Given the description of an element on the screen output the (x, y) to click on. 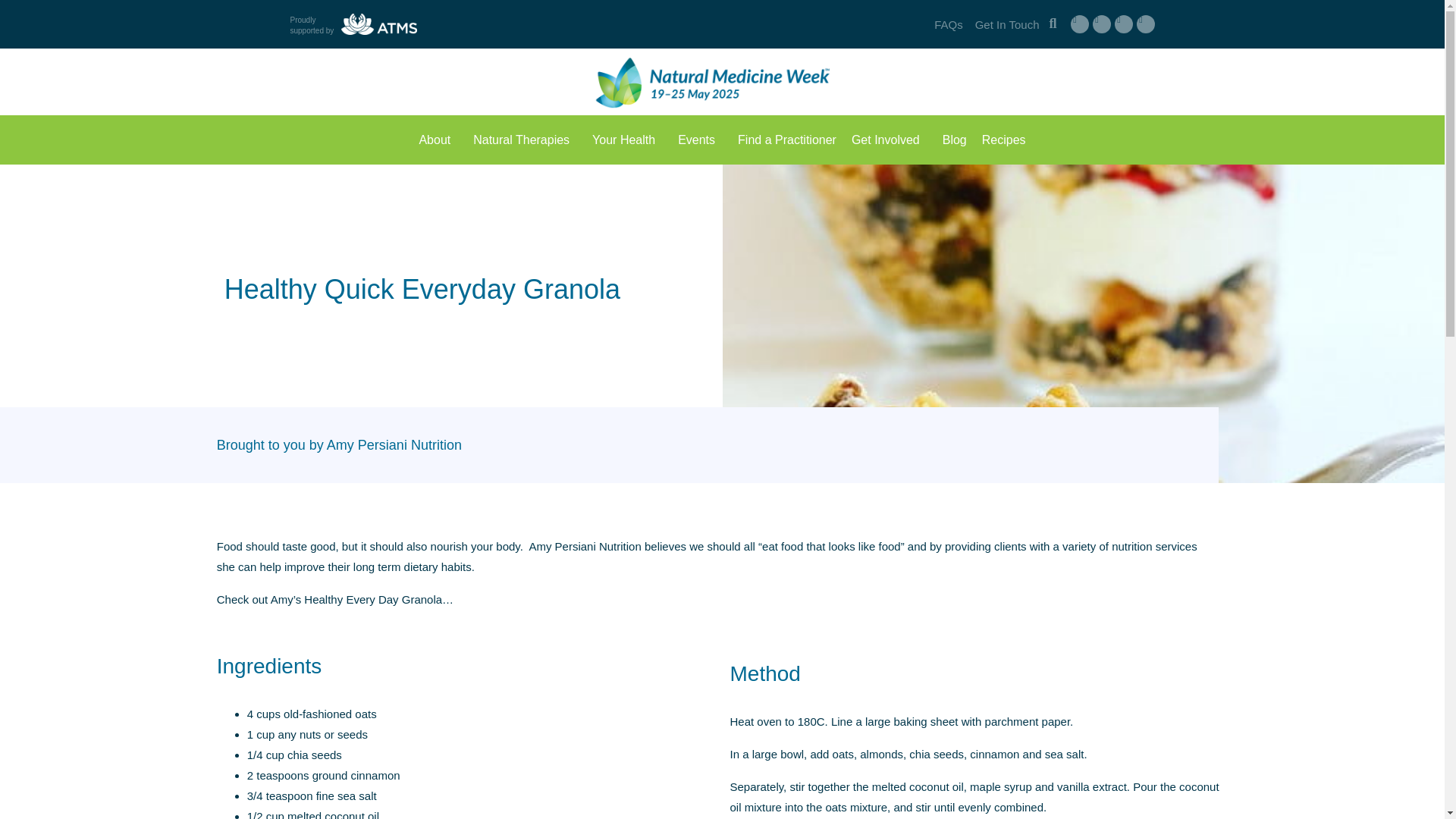
Get In Touch (1007, 23)
FAQs (948, 23)
Natural Therapies (525, 139)
About (437, 139)
